Given the description of an element on the screen output the (x, y) to click on. 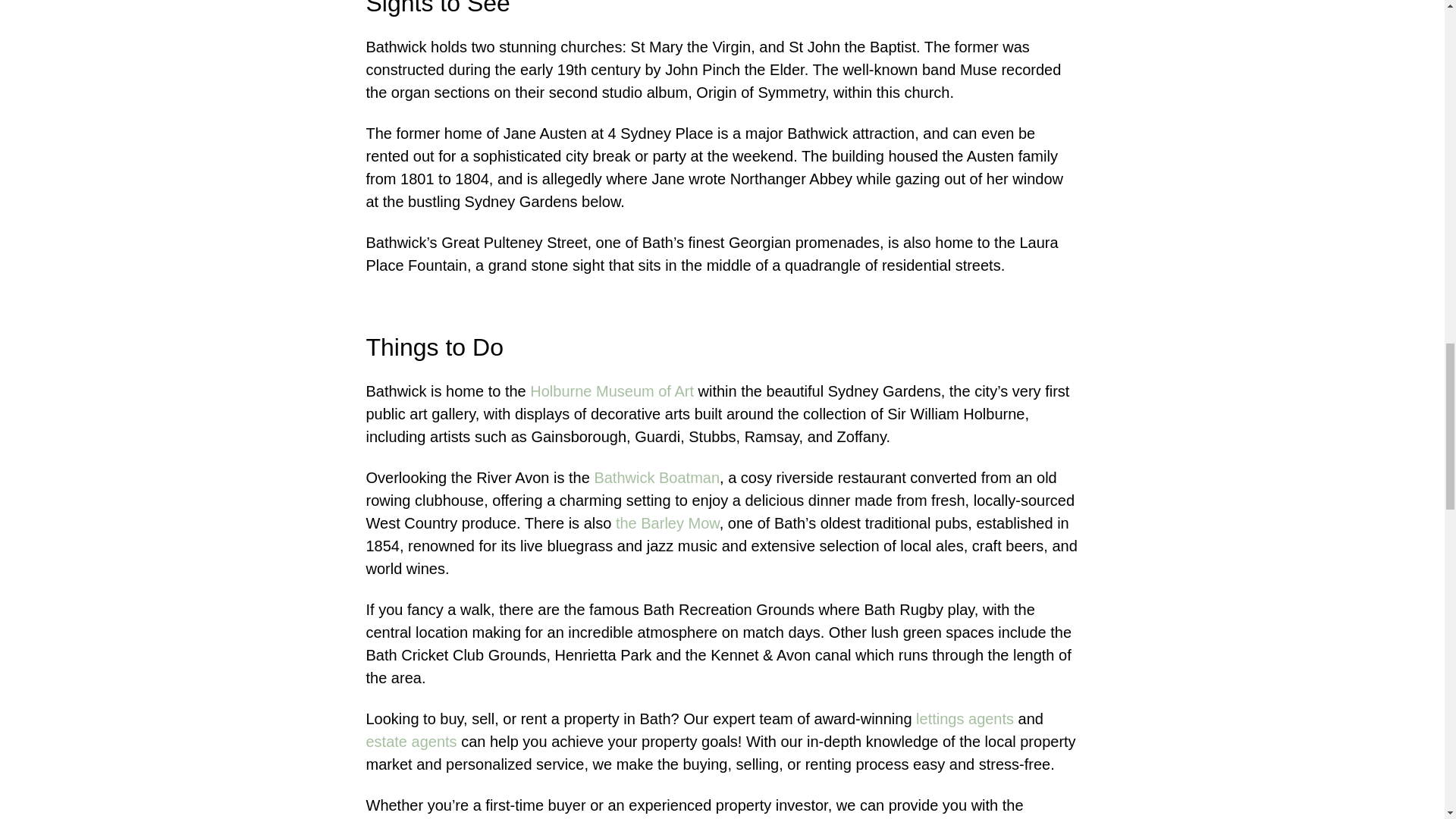
Holburne Museum of Art (611, 391)
Bathwick Boatman (656, 477)
the Barley Mow (667, 523)
estate agents (411, 742)
lettings agents (964, 719)
